Given the description of an element on the screen output the (x, y) to click on. 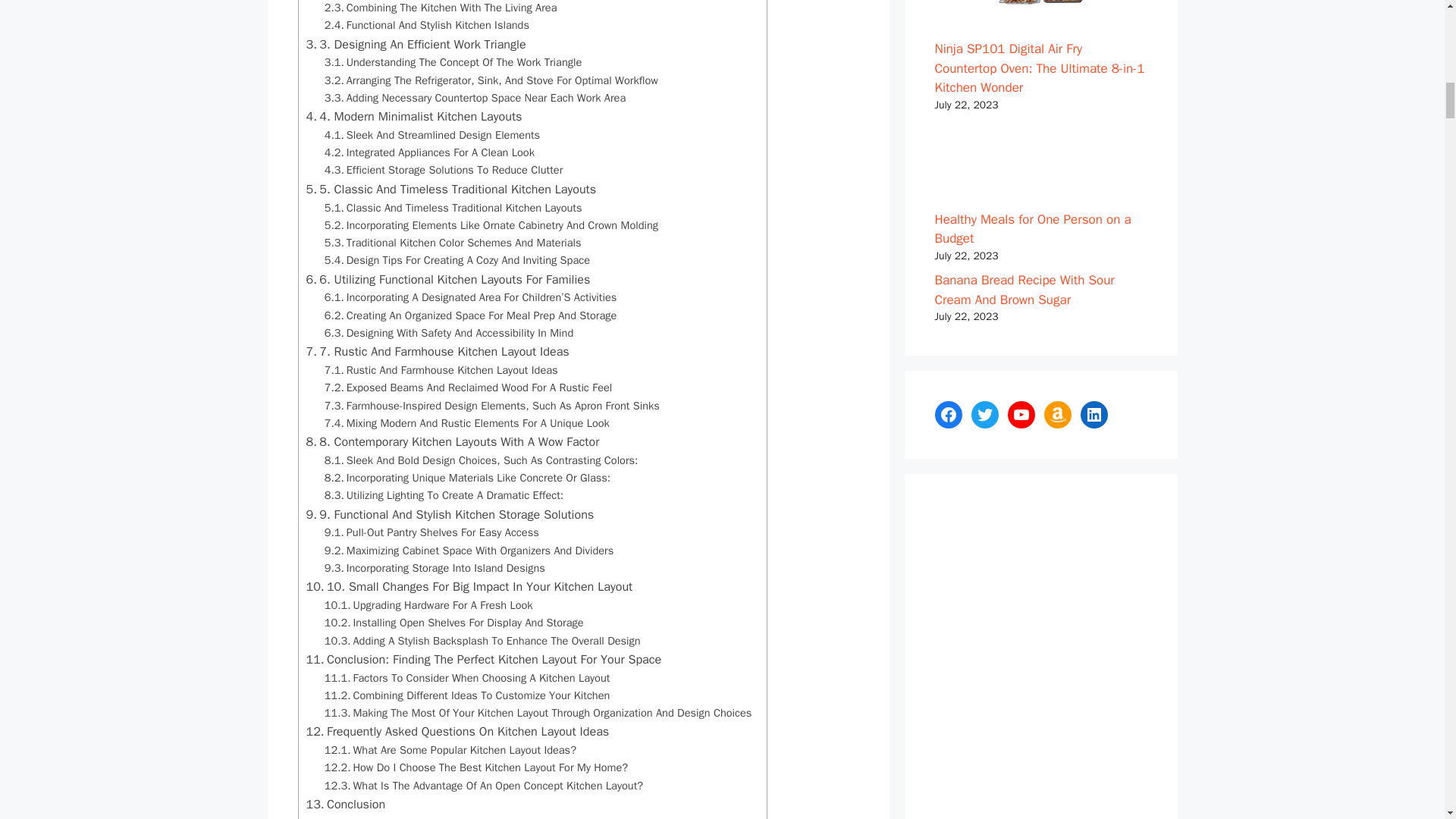
4. Modern Minimalist Kitchen Layouts (413, 116)
Creating An Organized Space For Meal Prep And Storage (470, 315)
3. Designing An Efficient Work Triangle (415, 44)
Integrated Appliances For A Clean Look (429, 152)
Combining The Kitchen With The Living Area (440, 8)
Classic And Timeless Traditional Kitchen Layouts (453, 208)
6. Utilizing Functional Kitchen Layouts For Families (448, 279)
Understanding The Concept Of The Work Triangle (453, 62)
